Given the description of an element on the screen output the (x, y) to click on. 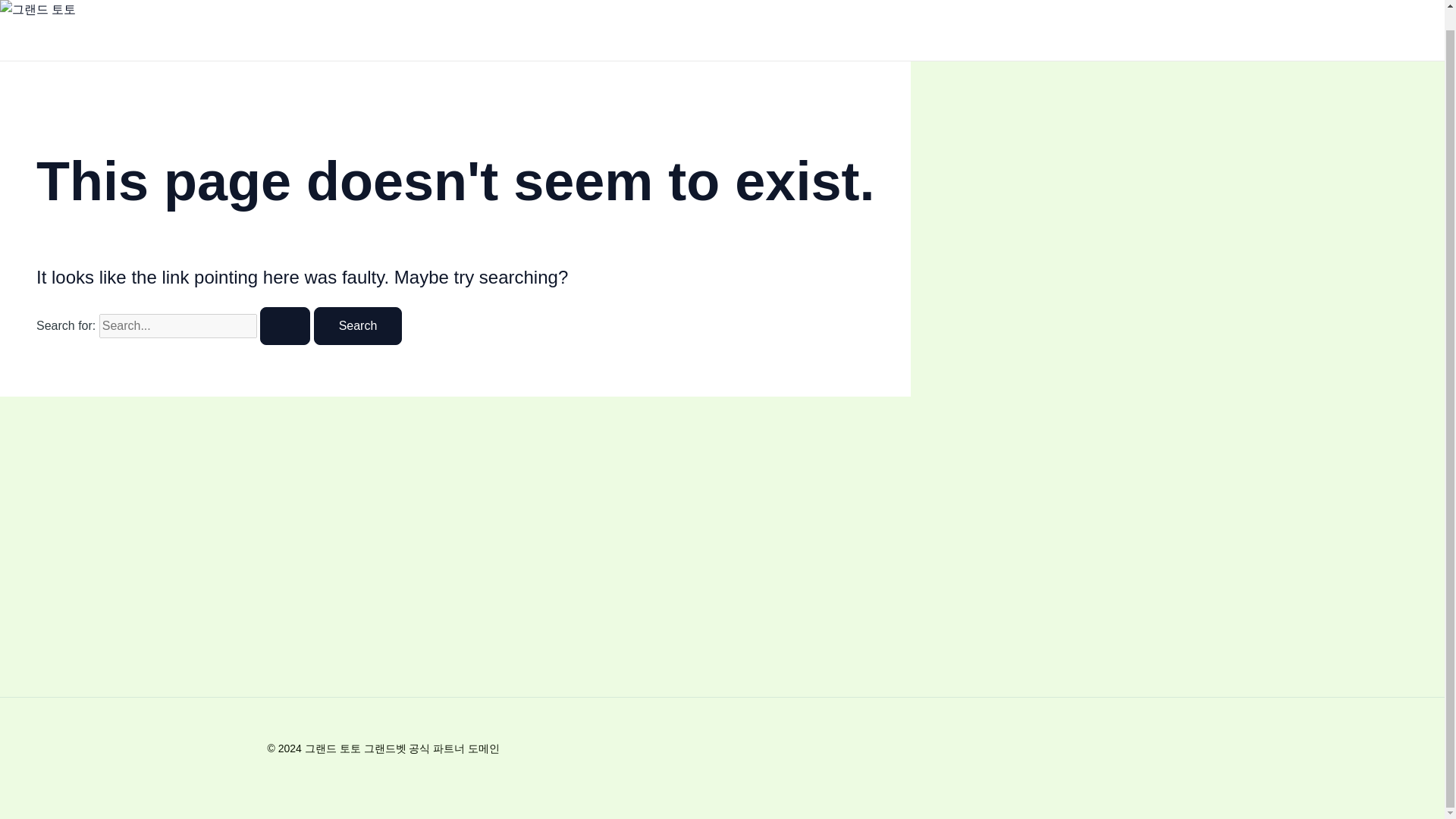
Search (358, 325)
Search (358, 325)
Search (358, 325)
